Given the description of an element on the screen output the (x, y) to click on. 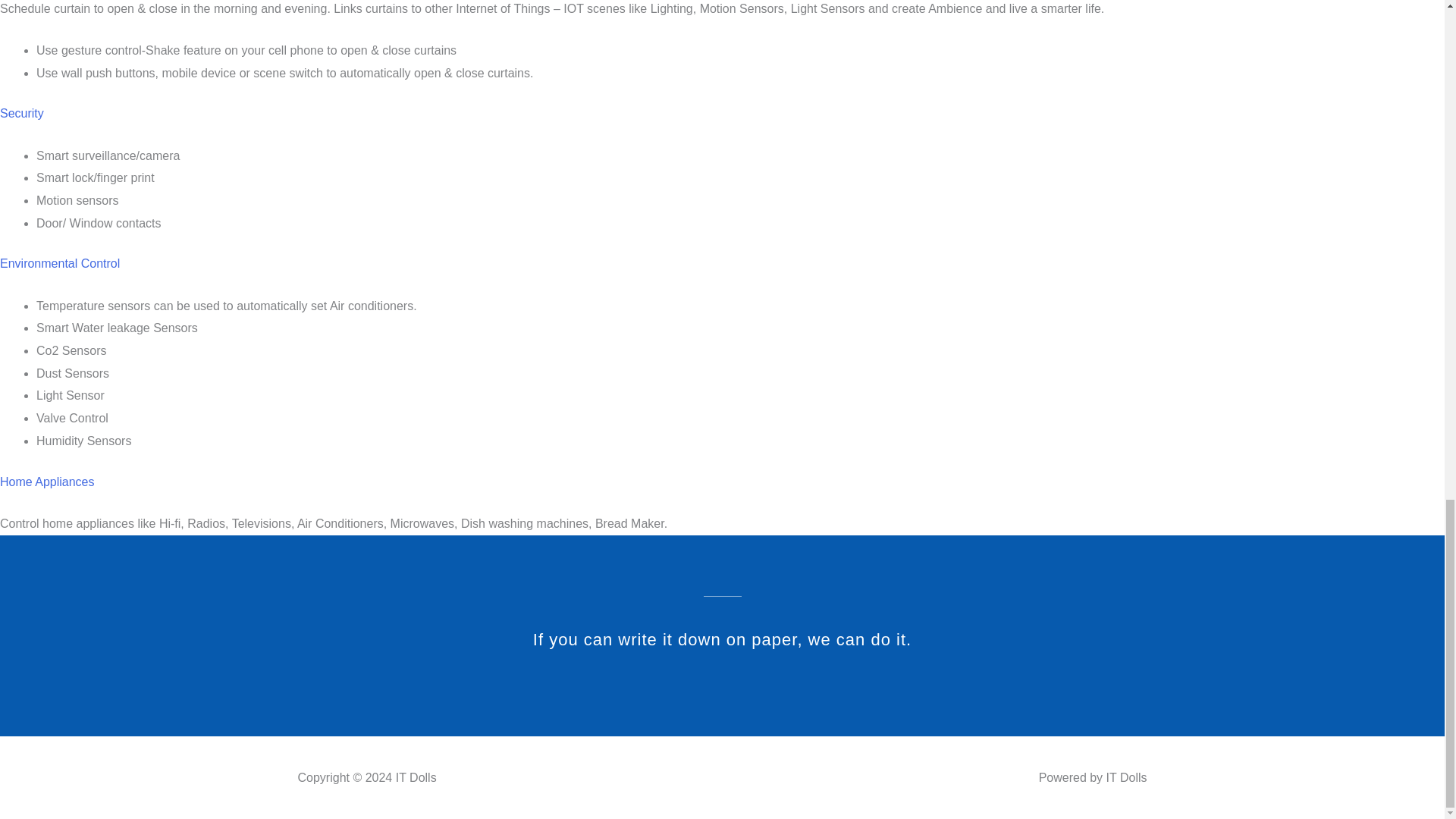
Environmental Control (59, 263)
Security (21, 113)
Home Appliances (47, 481)
